Given the description of an element on the screen output the (x, y) to click on. 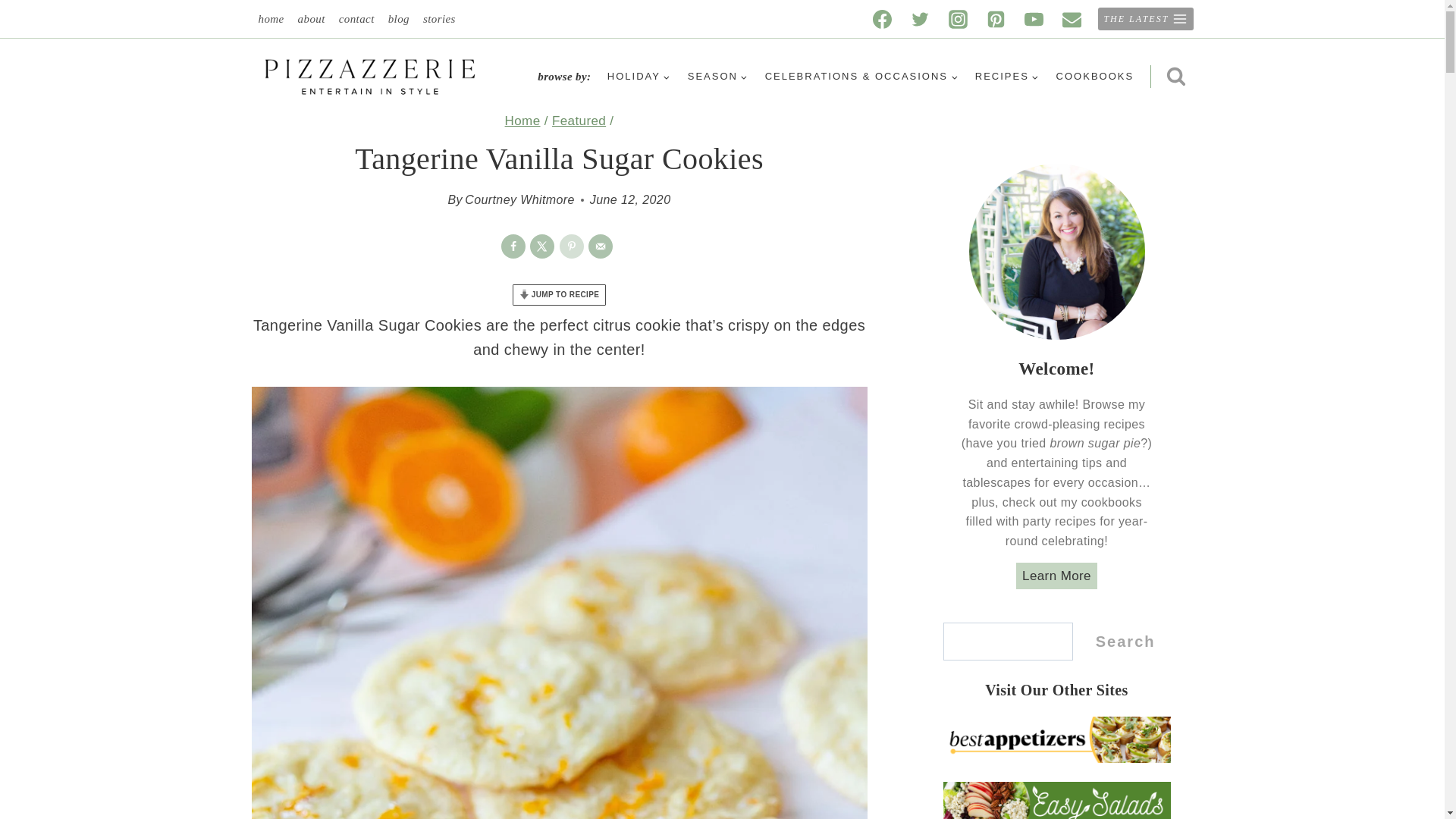
SEASON (716, 76)
JUMP TO RECIPE (559, 294)
about (311, 19)
HOLIDAY (638, 76)
Share on X (541, 246)
contact (356, 19)
blog (398, 19)
Send over email (600, 246)
stories (439, 19)
Save to Pinterest (571, 246)
